Given the description of an element on the screen output the (x, y) to click on. 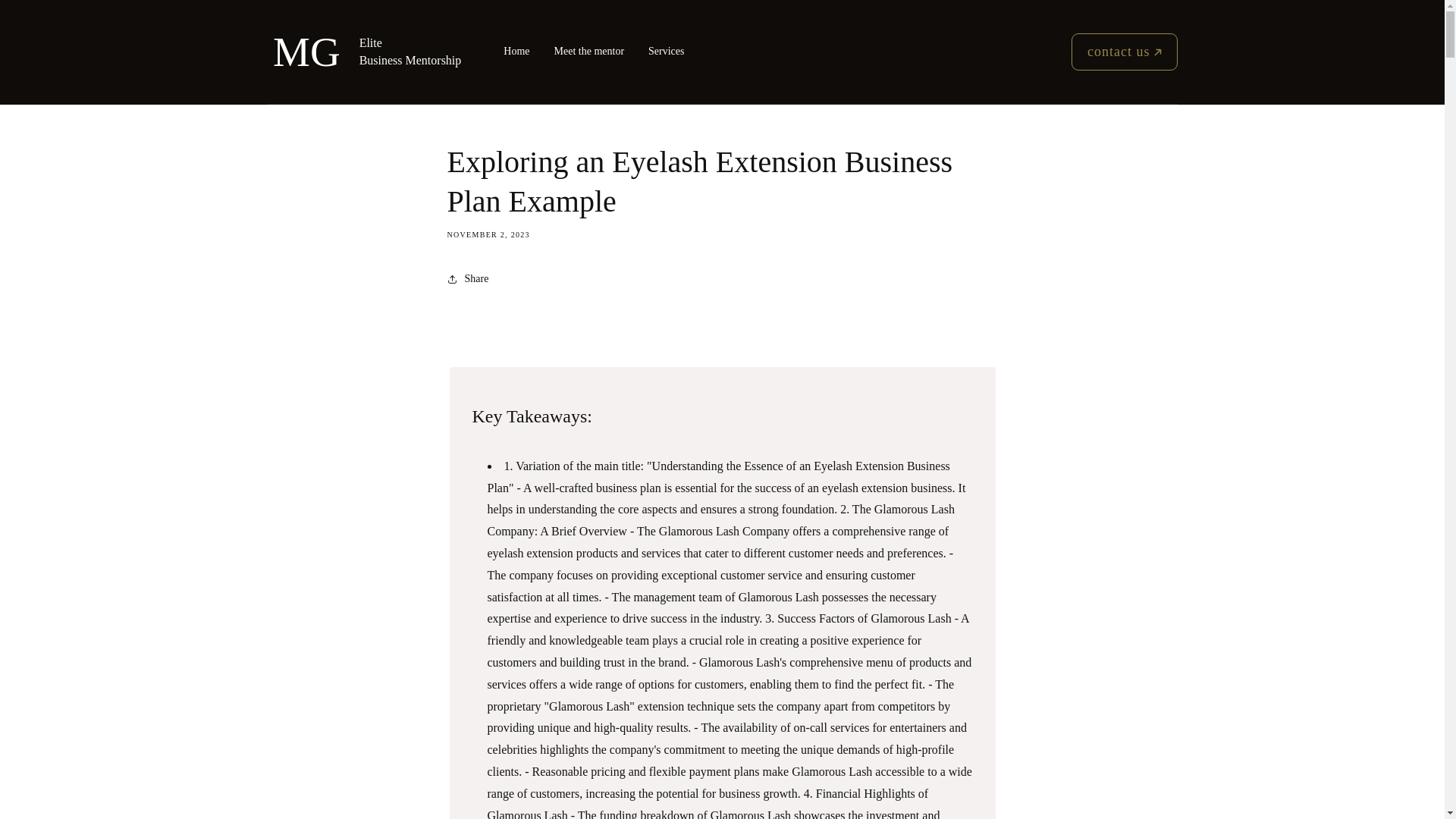
contact us (1123, 52)
Skip to content (45, 26)
Meet the mentor (589, 51)
Services (665, 51)
Home (516, 51)
